Given the description of an element on the screen output the (x, y) to click on. 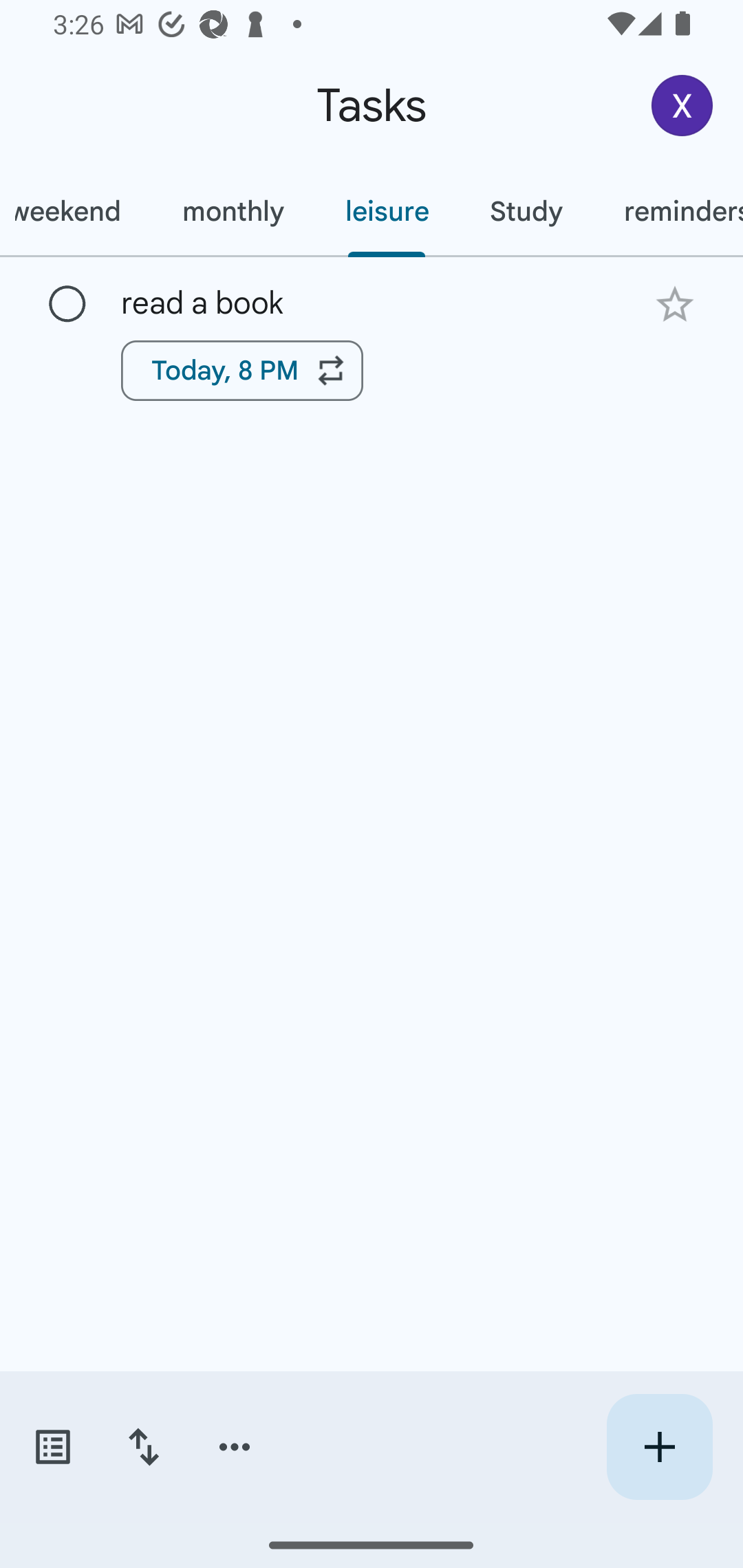
weekend (75, 211)
monthly (232, 211)
Study (525, 211)
reminders (667, 211)
Add star (674, 303)
Mark as complete (67, 304)
Today, 8 PM (242, 369)
Switch task lists (52, 1447)
Create new task (659, 1446)
Change sort order (143, 1446)
More options (234, 1446)
